Given the description of an element on the screen output the (x, y) to click on. 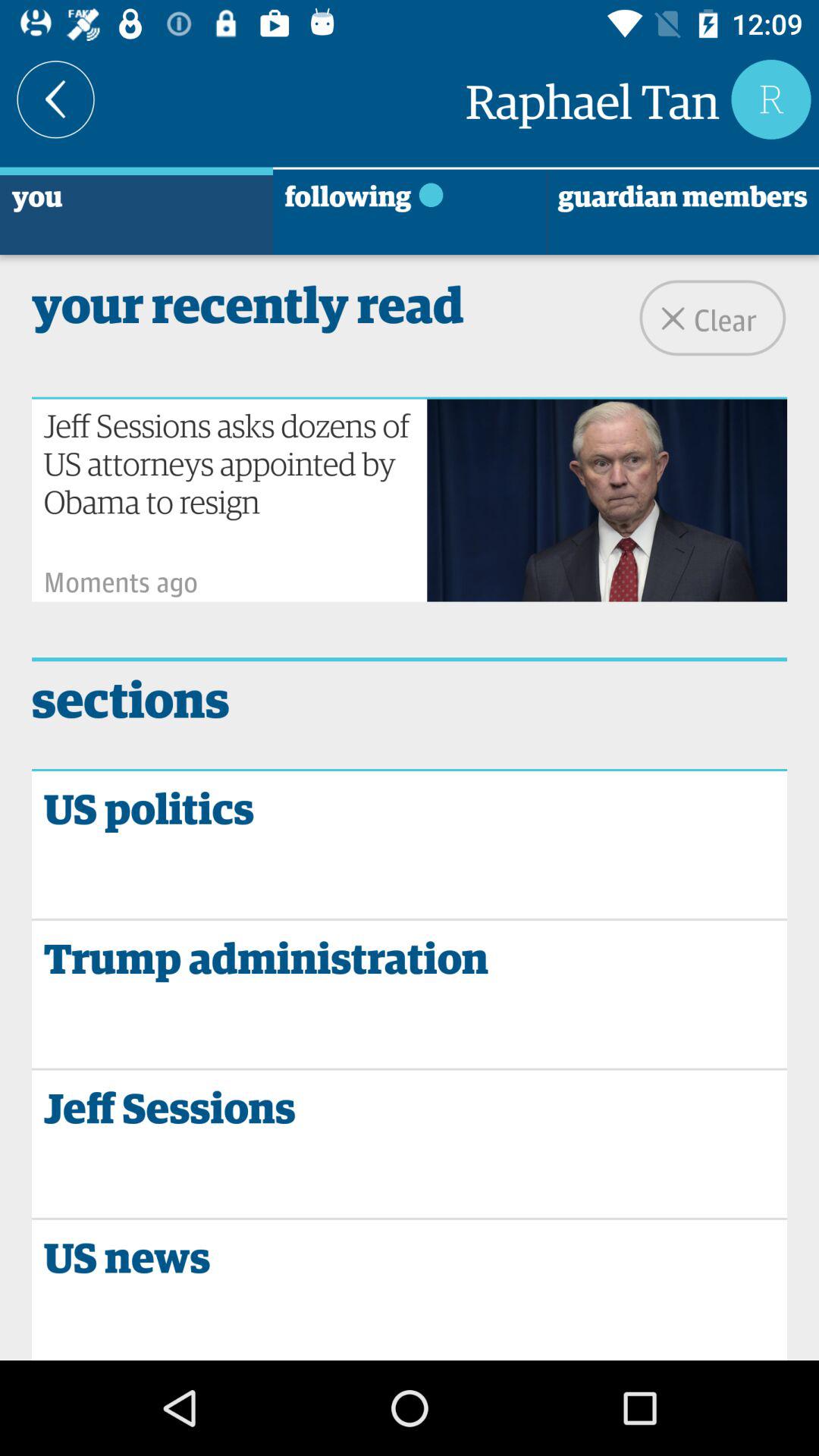
click icon next to raphael tan (55, 99)
